Given the description of an element on the screen output the (x, y) to click on. 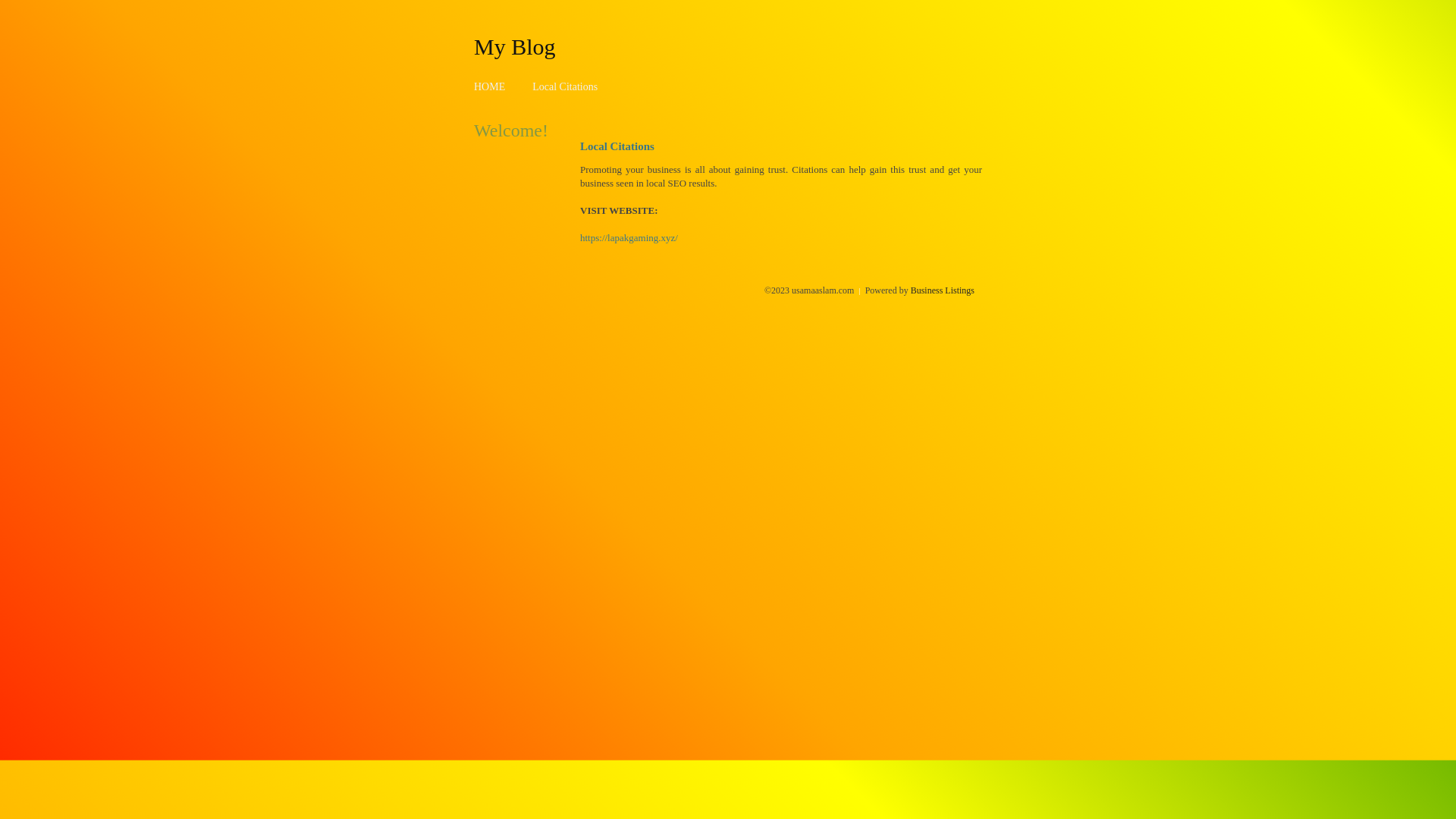
My Blog Element type: text (514, 46)
Business Listings Element type: text (942, 290)
https://lapakgaming.xyz/ Element type: text (628, 237)
Local Citations Element type: text (564, 86)
HOME Element type: text (489, 86)
